Given the description of an element on the screen output the (x, y) to click on. 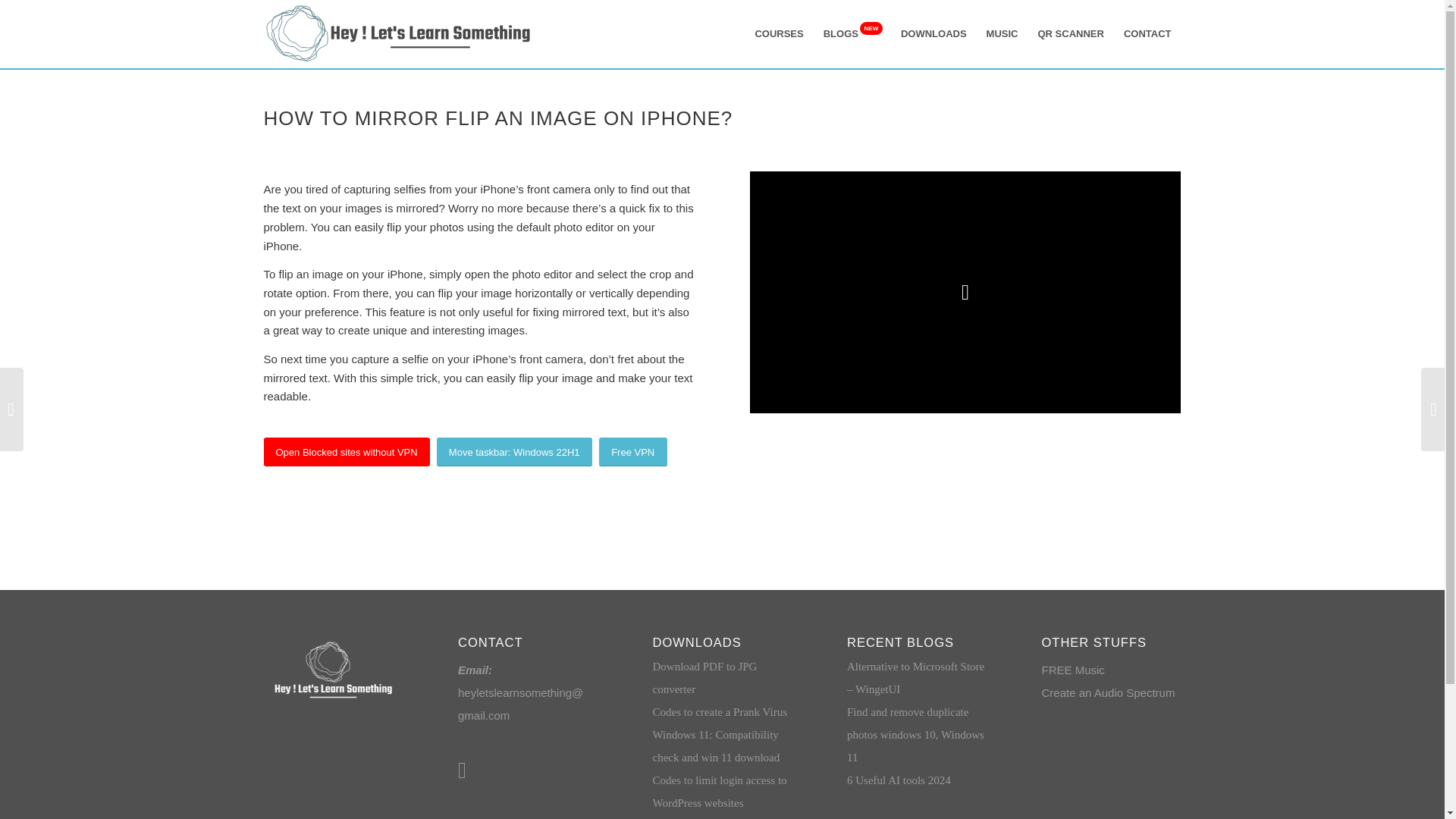
Open Blocked sites without VPN (346, 451)
Download PDF to JPG converter (704, 677)
Hey, lets learn something (399, 33)
Free VPN (632, 451)
Permanent Link: Codes to create a Prank Virus (719, 711)
Codes to create a Prank Virus (719, 711)
COURSES (778, 33)
FREE Music (1073, 669)
BLOGS (852, 33)
Permanent Link: 6 Useful AI tools 2024 (898, 779)
Create an Audio Spectrum (1108, 692)
QR SCANNER (1070, 33)
Find and remove duplicate photos windows 10, Windows 11 (915, 734)
